Given the description of an element on the screen output the (x, y) to click on. 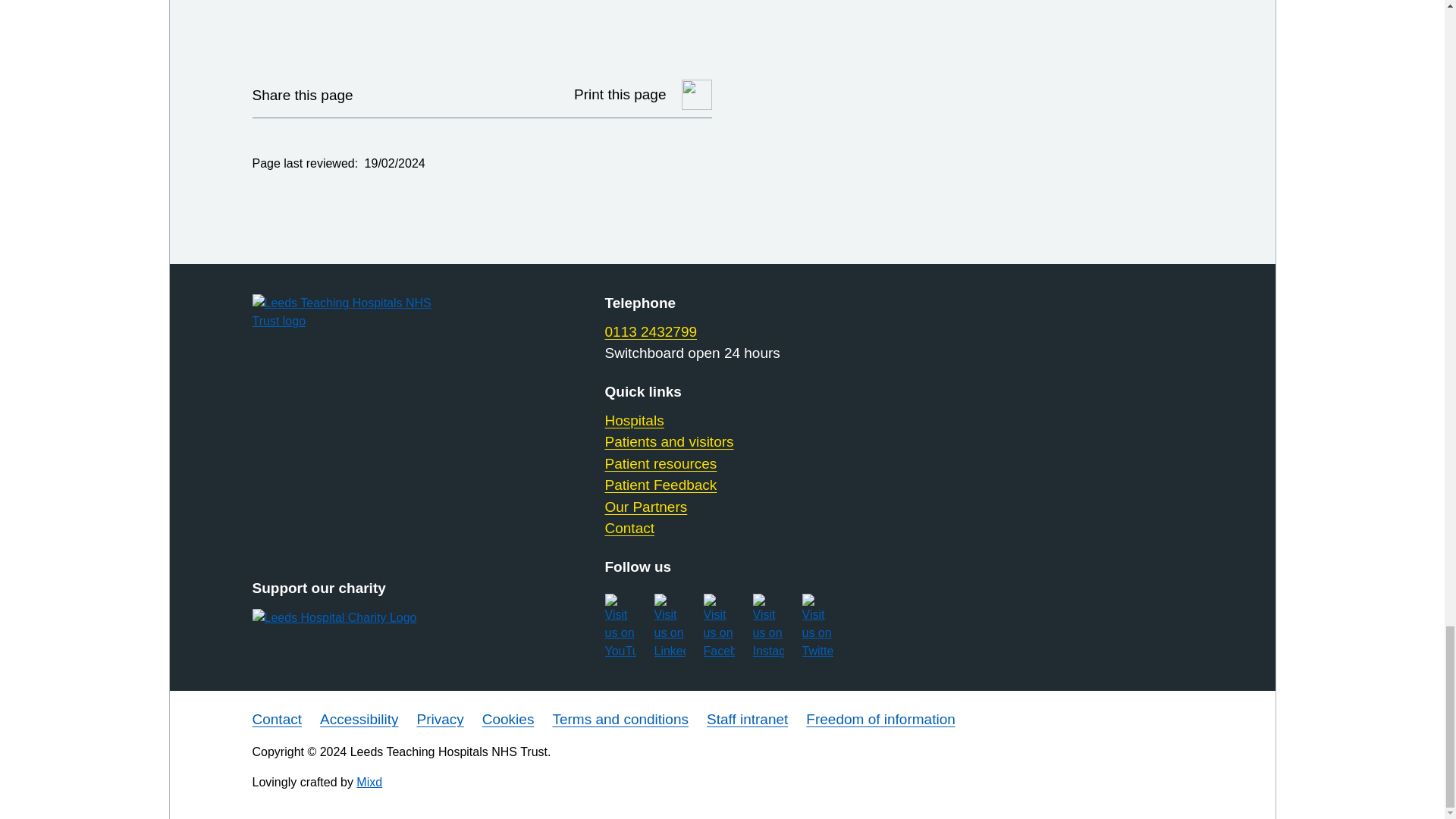
Leeds Hospital Charity (359, 618)
Leeds Teaching Hospitals NHS Trust Homepage (359, 312)
Share on Facebook (422, 94)
Share via Email (460, 94)
